Given the description of an element on the screen output the (x, y) to click on. 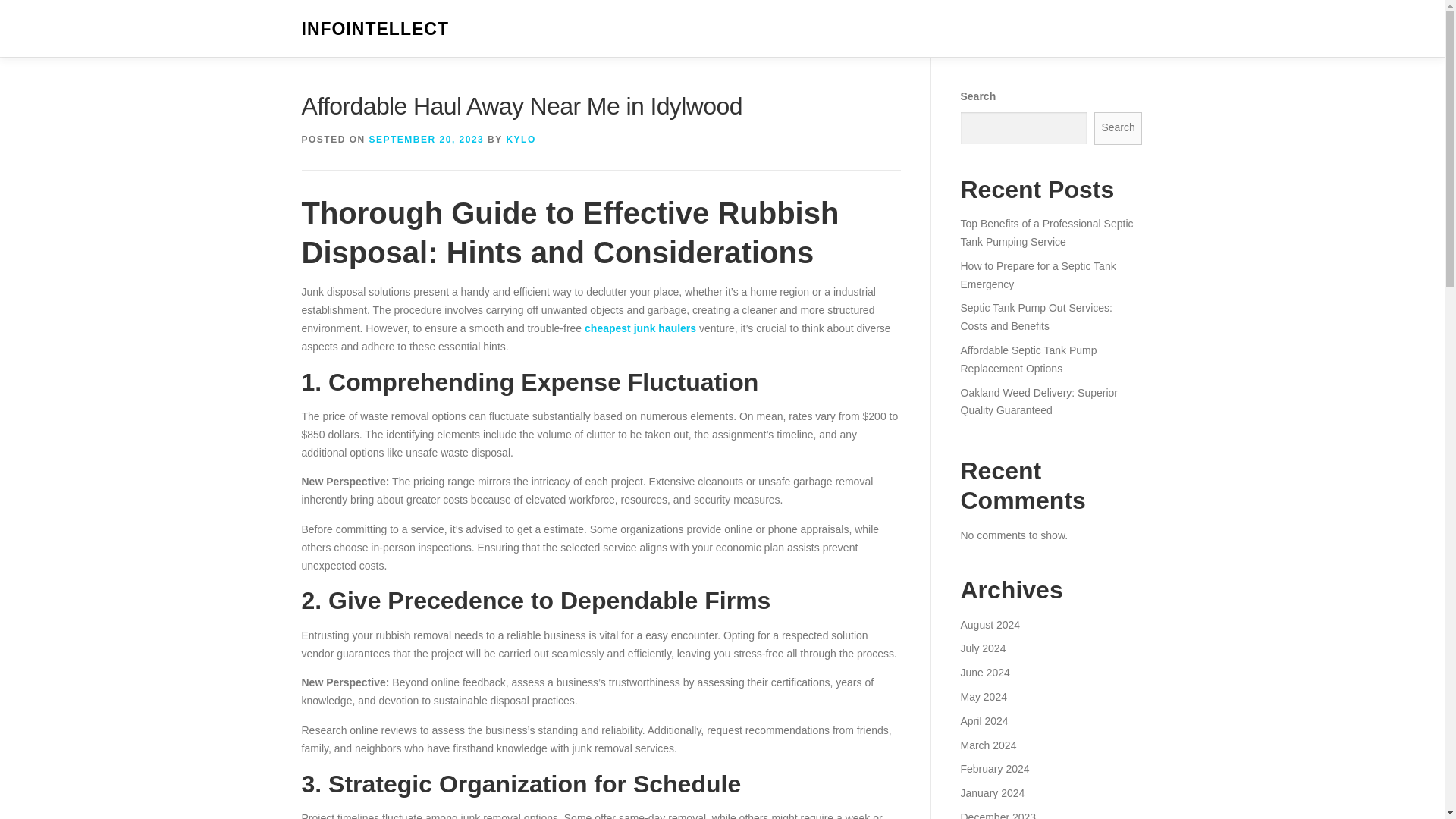
Affordable Septic Tank Pump Replacement Options (1027, 358)
Top Benefits of a Professional Septic Tank Pumping Service (1045, 232)
Oakland Weed Delivery: Superior Quality Guaranteed (1038, 401)
cheapest junk haulers (640, 328)
SEPTEMBER 20, 2023 (426, 139)
April 2024 (983, 720)
July 2024 (982, 648)
KYLO (520, 139)
March 2024 (987, 744)
January 2024 (992, 793)
